Given the description of an element on the screen output the (x, y) to click on. 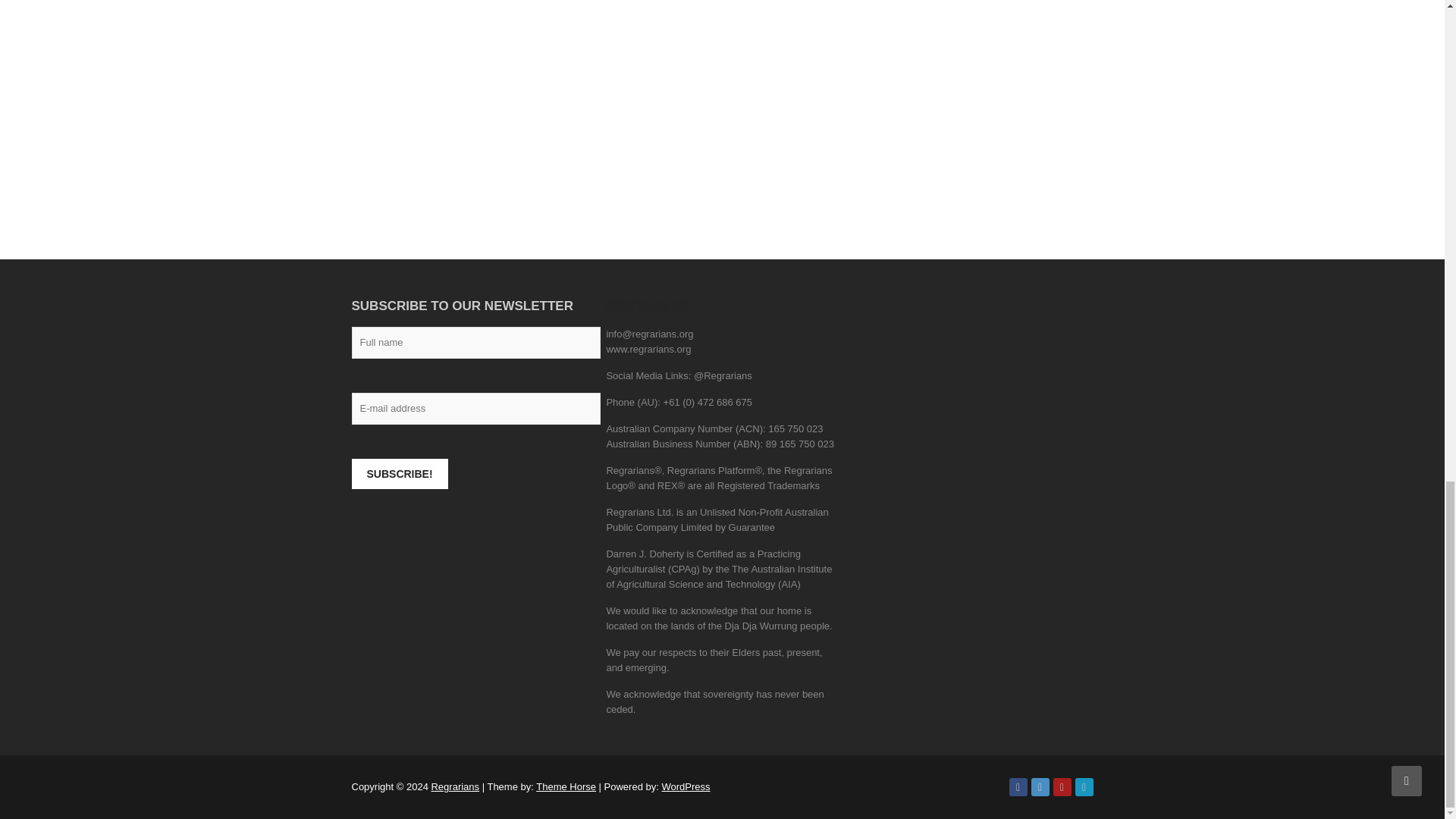
SUBSCRIBE! (400, 473)
Regrarians on Vimeo (1084, 787)
Regrarians (454, 786)
Regrarians on Twitter (1039, 787)
Regrarians on Youtube (1061, 787)
WordPress (685, 786)
Regrarians on Facebook (1017, 787)
Theme Horse (565, 786)
